Given the description of an element on the screen output the (x, y) to click on. 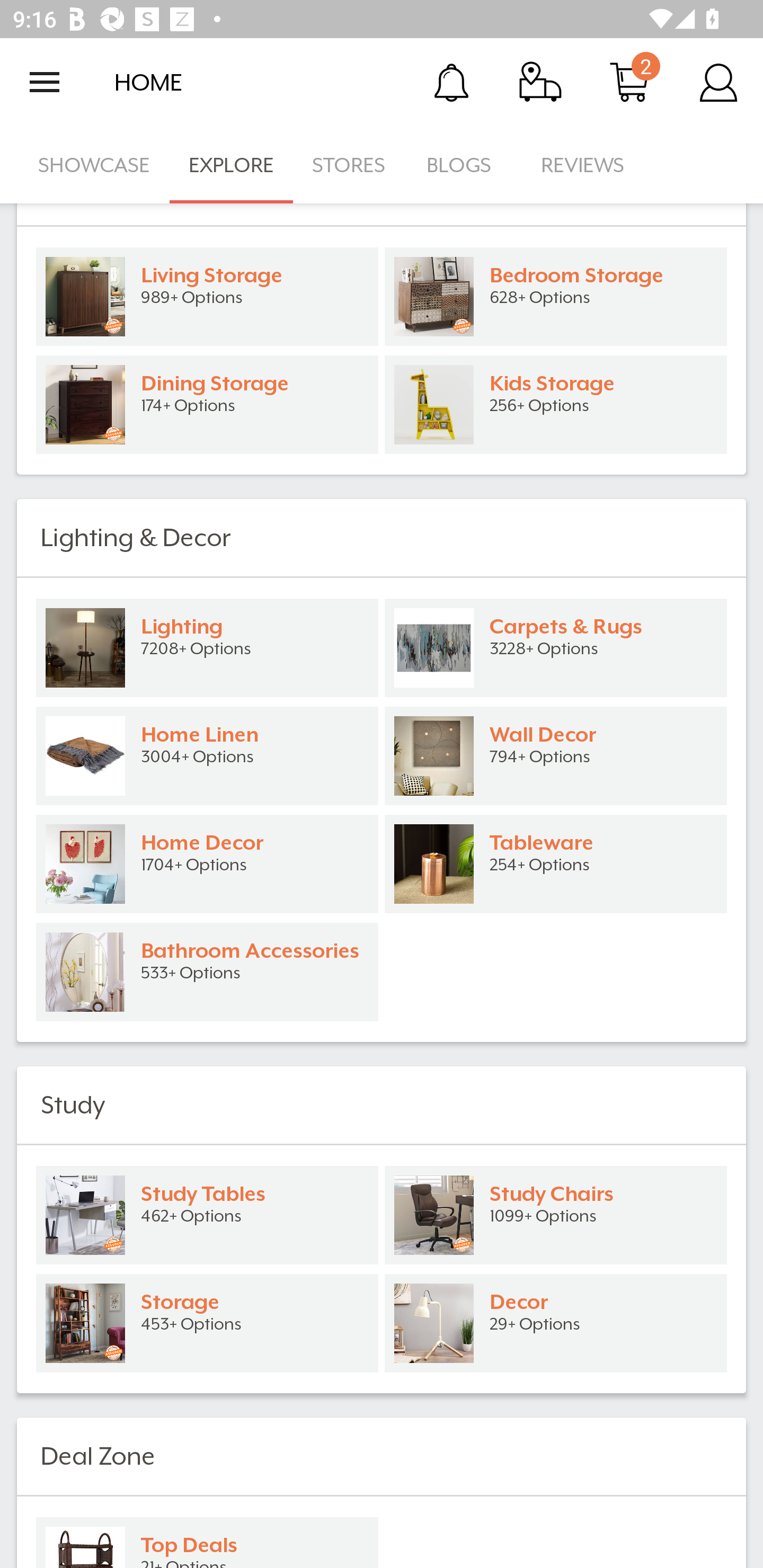
Open navigation drawer (44, 82)
Notification (450, 81)
Track Order (540, 81)
Cart (629, 81)
Account Details (718, 81)
SHOWCASE (94, 165)
EXPLORE (230, 165)
STORES (349, 165)
BLOGS (464, 165)
REVIEWS (582, 165)
Living Storage 989+ Options (206, 297)
Bedroom Storage 628+ Options (555, 297)
Dining Storage 174+ Options (206, 405)
Kids Storage 256+ Options (555, 405)
Lighting 7208+ Options (206, 648)
Carpets & Rugs 3228+ Options (555, 648)
Home Linen 3004+ Options (206, 756)
Wall Decor 794+ Options (555, 756)
Home Decor 1704+ Options (206, 863)
Tableware 254+ Options (555, 863)
Bathroom Accessories 533+ Options (206, 971)
Study Tables 462+ Options (206, 1214)
Study Chairs 1099+ Options (555, 1214)
Storage 453+ Options (206, 1322)
Decor 29+ Options (555, 1322)
Top Deals 21+ Options (206, 1540)
